Given the description of an element on the screen output the (x, y) to click on. 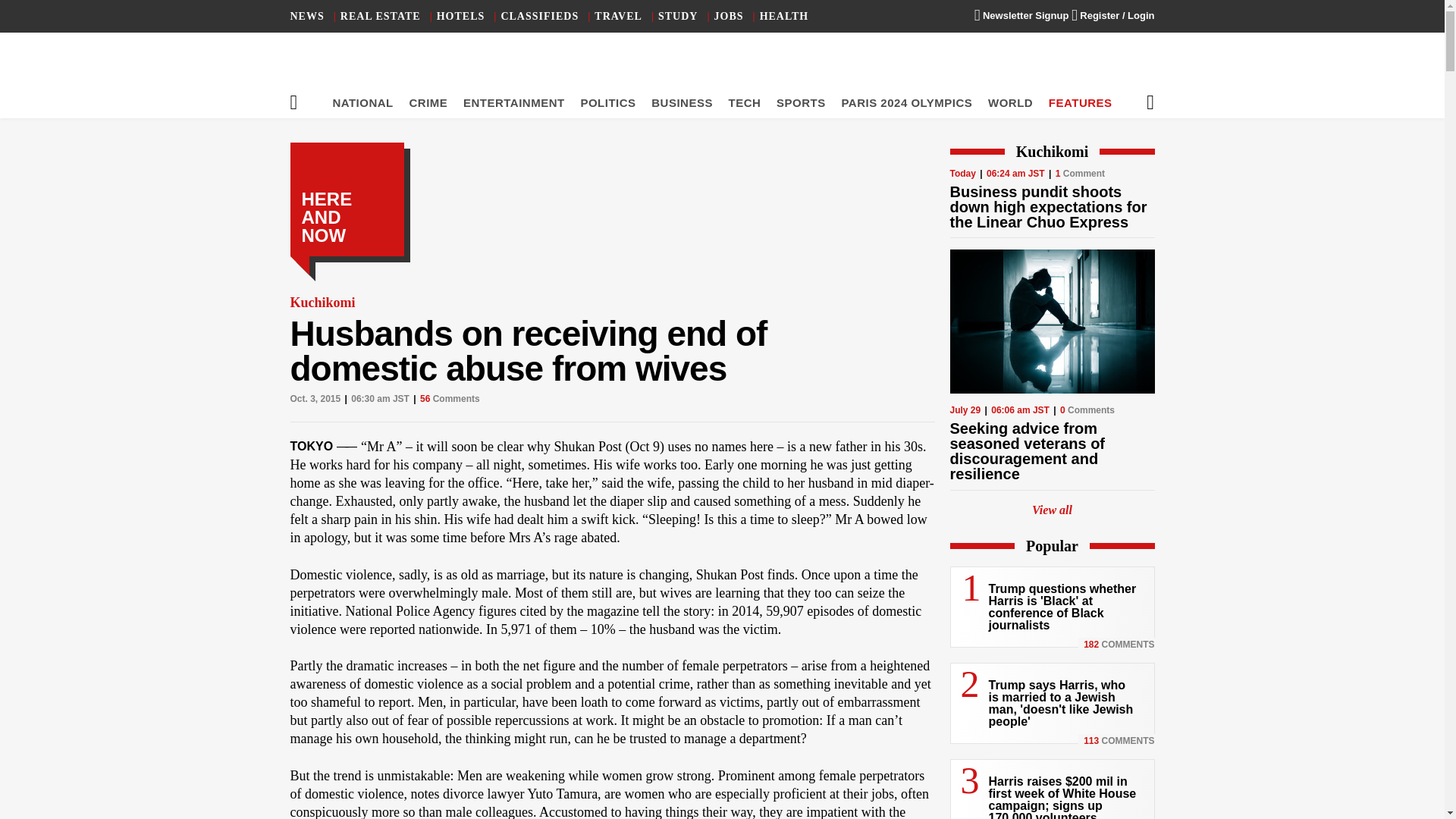
STUDY (677, 16)
TRAVEL (618, 16)
WORLD (1010, 102)
FEATURES (1080, 102)
POLITICS (606, 102)
REAL ESTATE (380, 16)
Japan Today (721, 67)
Newsletter Signup (1021, 15)
PARIS 2024 OLYMPICS (906, 102)
BUSINESS (681, 102)
SPORTS (800, 102)
NEWS (306, 16)
